Given the description of an element on the screen output the (x, y) to click on. 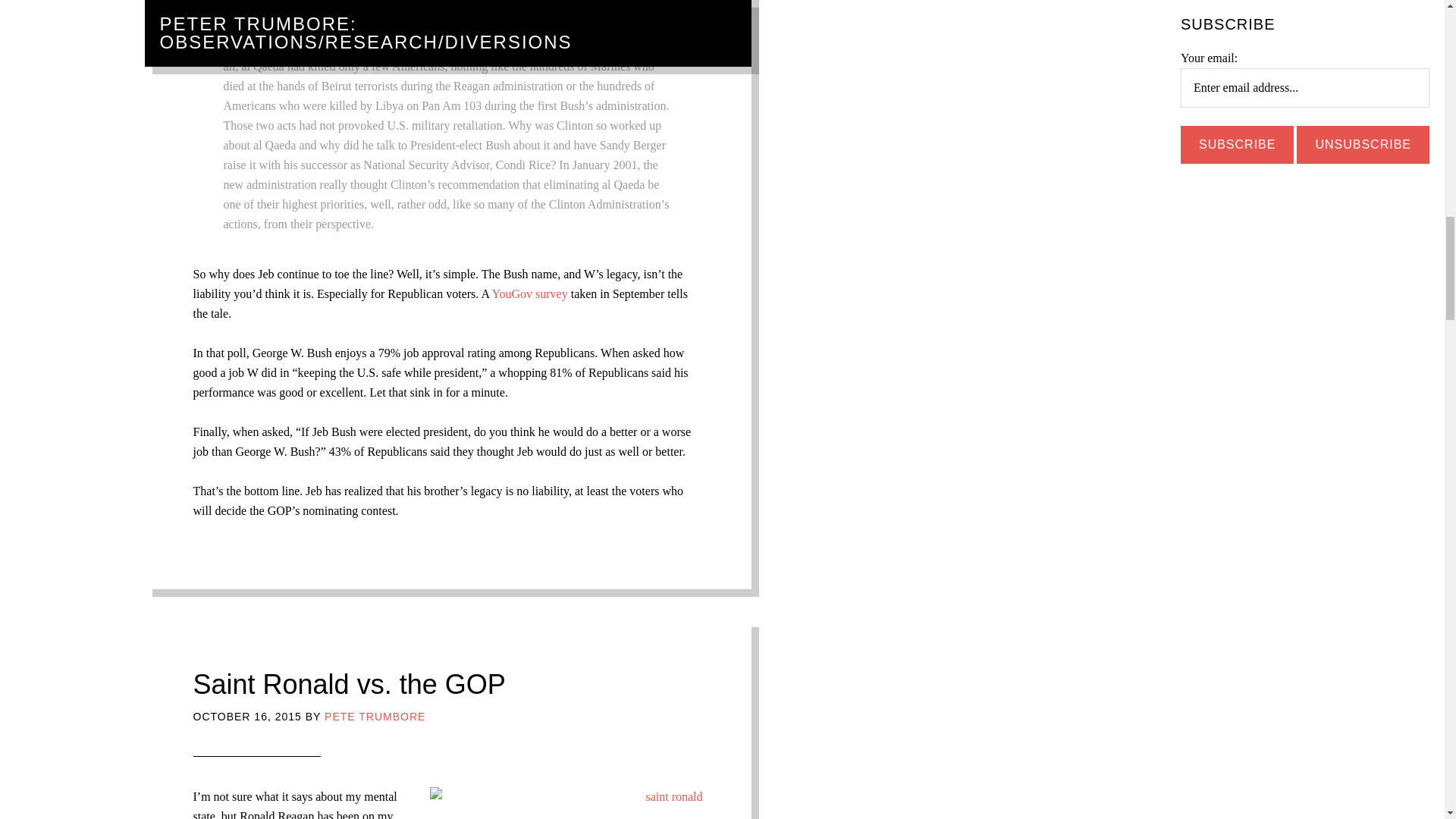
YouGov survey (529, 293)
Saint Ronald vs. the GOP (348, 684)
PETE TRUMBORE (374, 716)
